Given the description of an element on the screen output the (x, y) to click on. 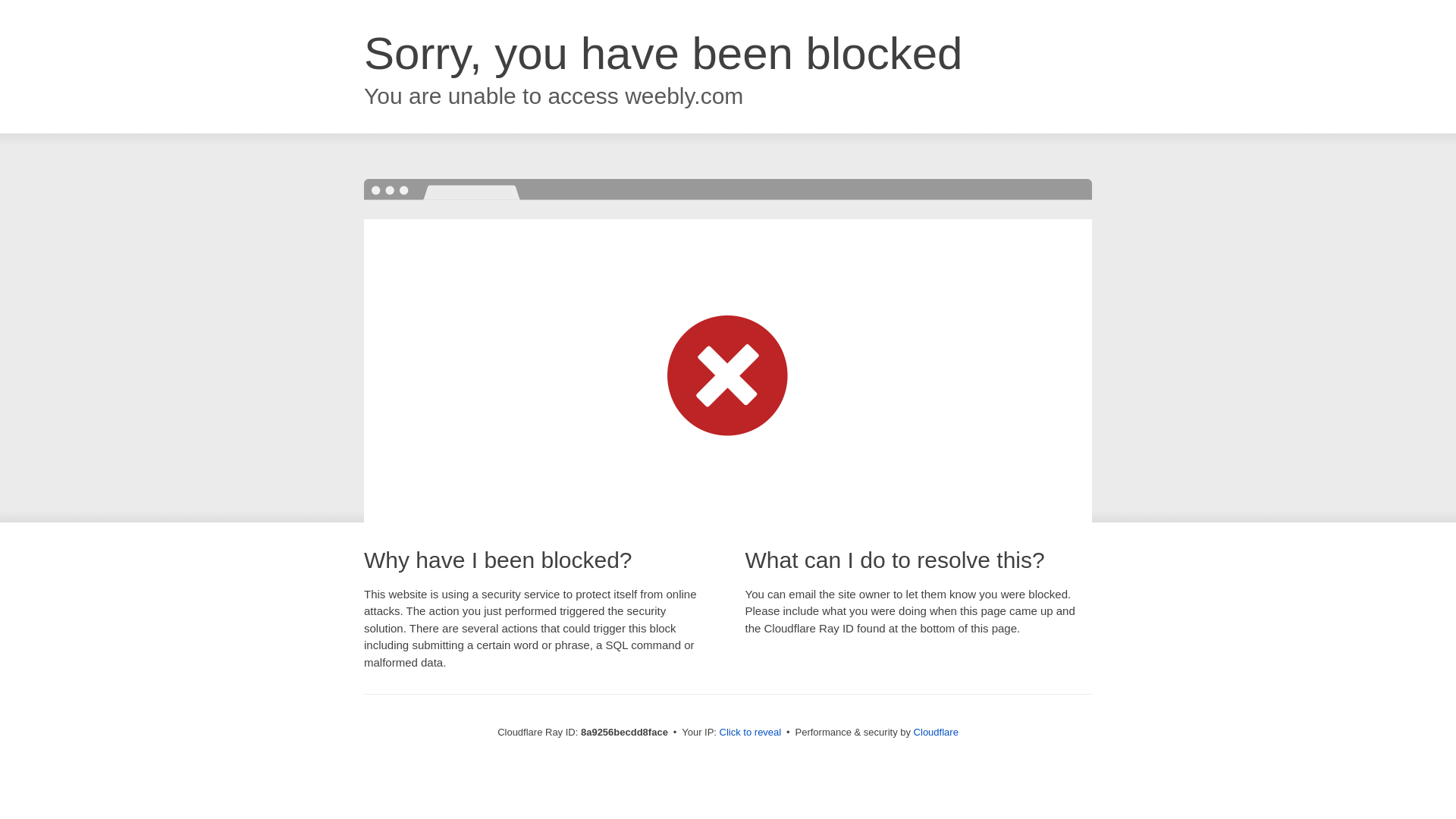
Click to reveal (750, 732)
Cloudflare (936, 731)
